Given the description of an element on the screen output the (x, y) to click on. 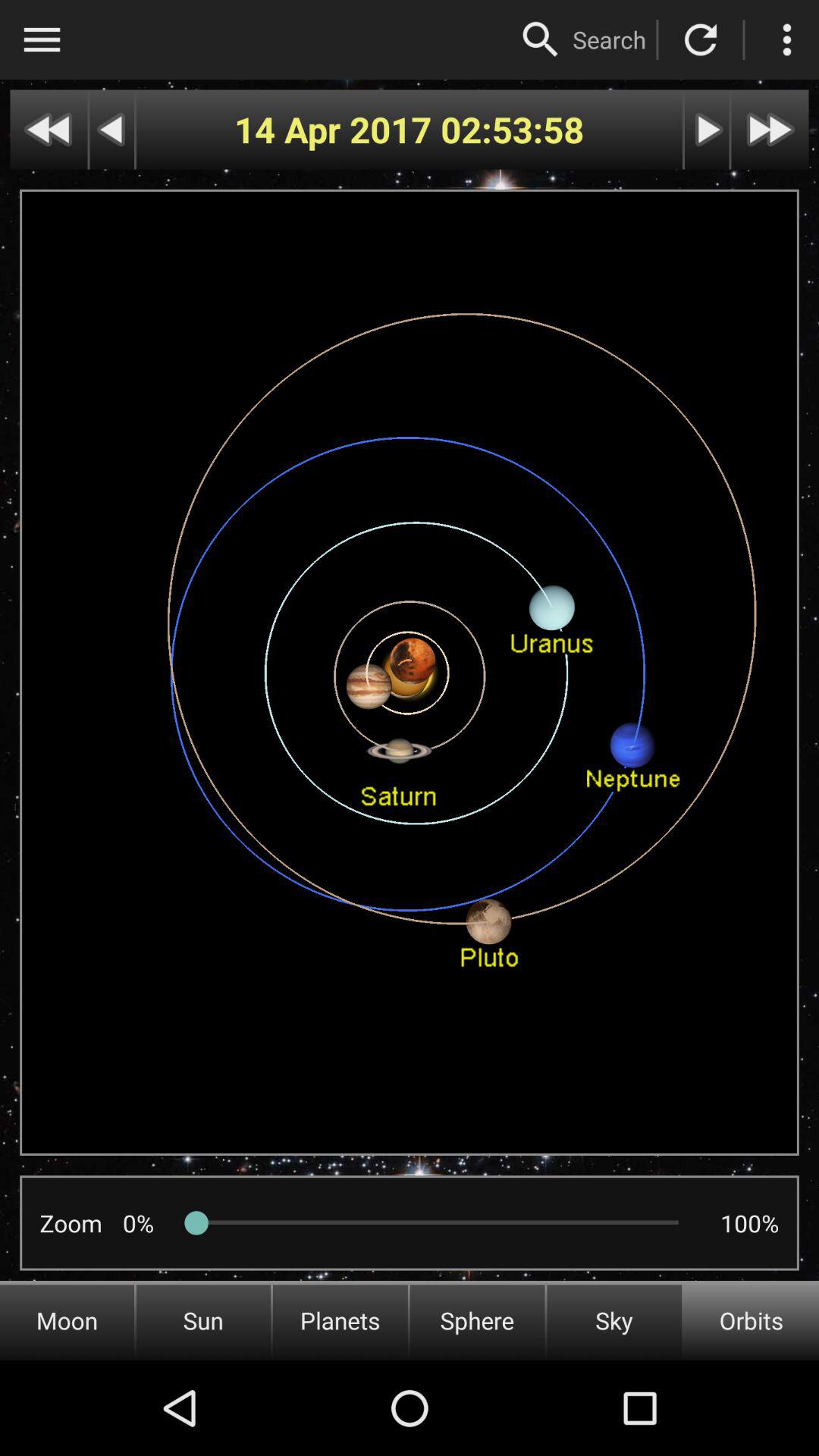
reset (700, 39)
